Given the description of an element on the screen output the (x, y) to click on. 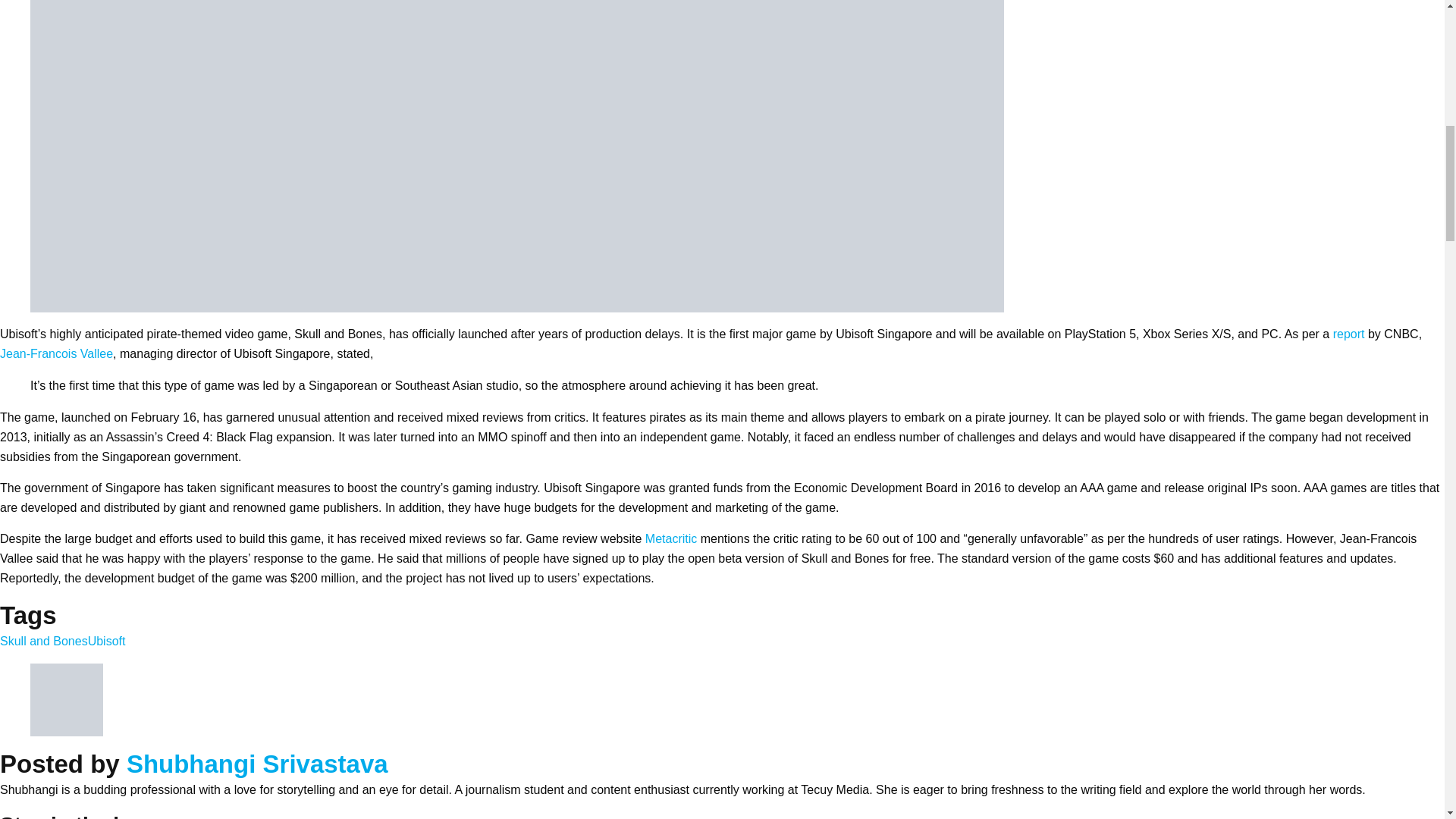
report (1349, 333)
Jean-Francois Vallee (56, 353)
Ubisoft (106, 640)
Skull and Bones (43, 640)
Metacritic (671, 538)
Shubhangi Srivastava (257, 764)
